Given the description of an element on the screen output the (x, y) to click on. 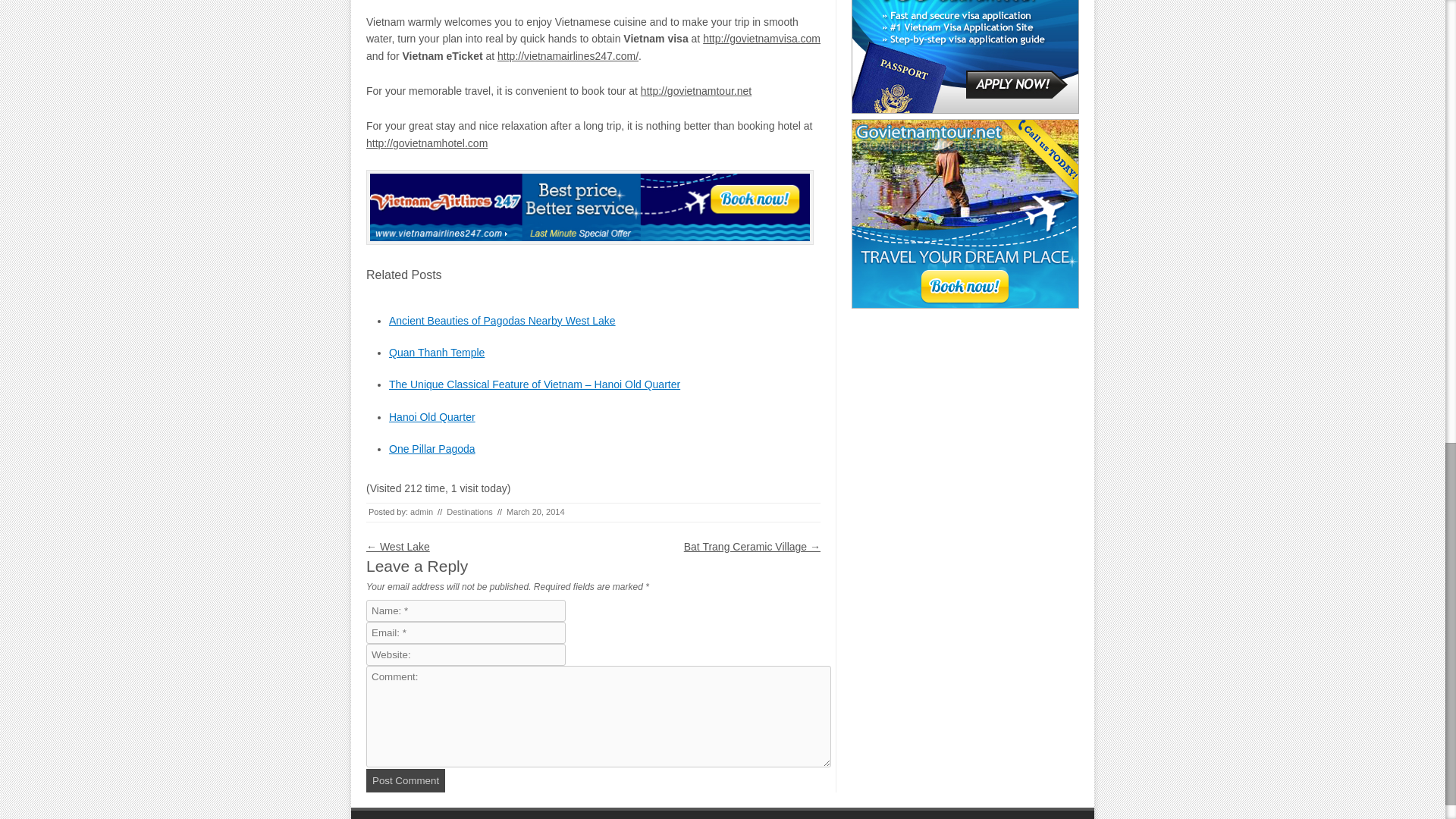
Quan Thanh Temple (436, 352)
One Pillar Pagoda (432, 449)
9:08 am (535, 511)
Post Comment (405, 780)
Ancient Beauties of Pagodas Nearby West Lake (501, 320)
View all posts by admin (421, 511)
admin (421, 511)
Post Comment (405, 780)
Hanoi Old Quarter (432, 417)
Destinations (469, 511)
